Given the description of an element on the screen output the (x, y) to click on. 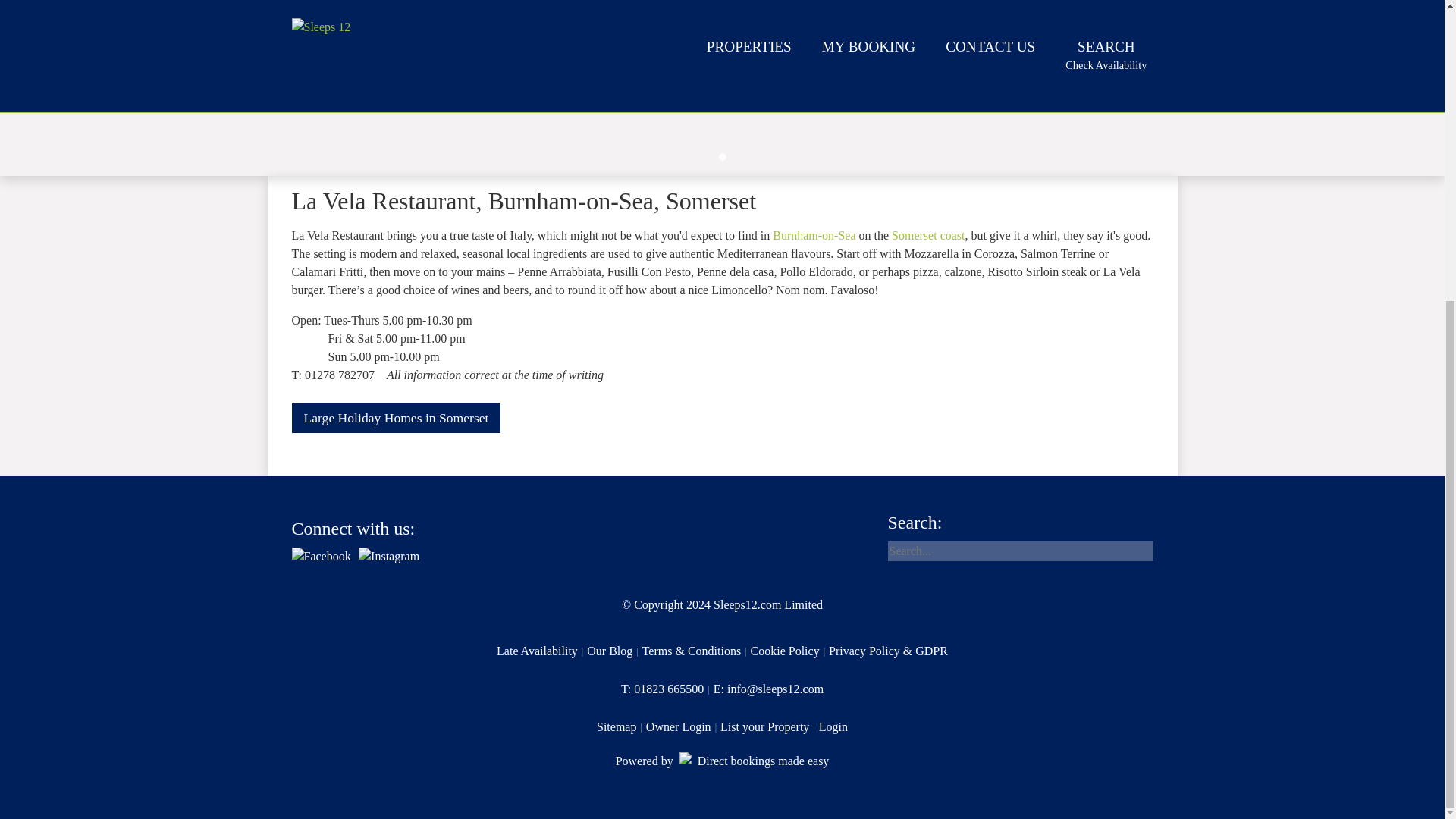
Somerset coast (927, 235)
Login (832, 727)
Burnham-on-Sea (814, 235)
Our Blog (722, 761)
Large Holiday Homes in Somerset (614, 651)
Owner Login (395, 418)
Late Availability (683, 727)
T: 01823 665500 (541, 651)
Sitemap (667, 688)
Cookie Policy (621, 727)
List your Property (790, 651)
StayTech: Holiday Property Website Design (769, 727)
